Given the description of an element on the screen output the (x, y) to click on. 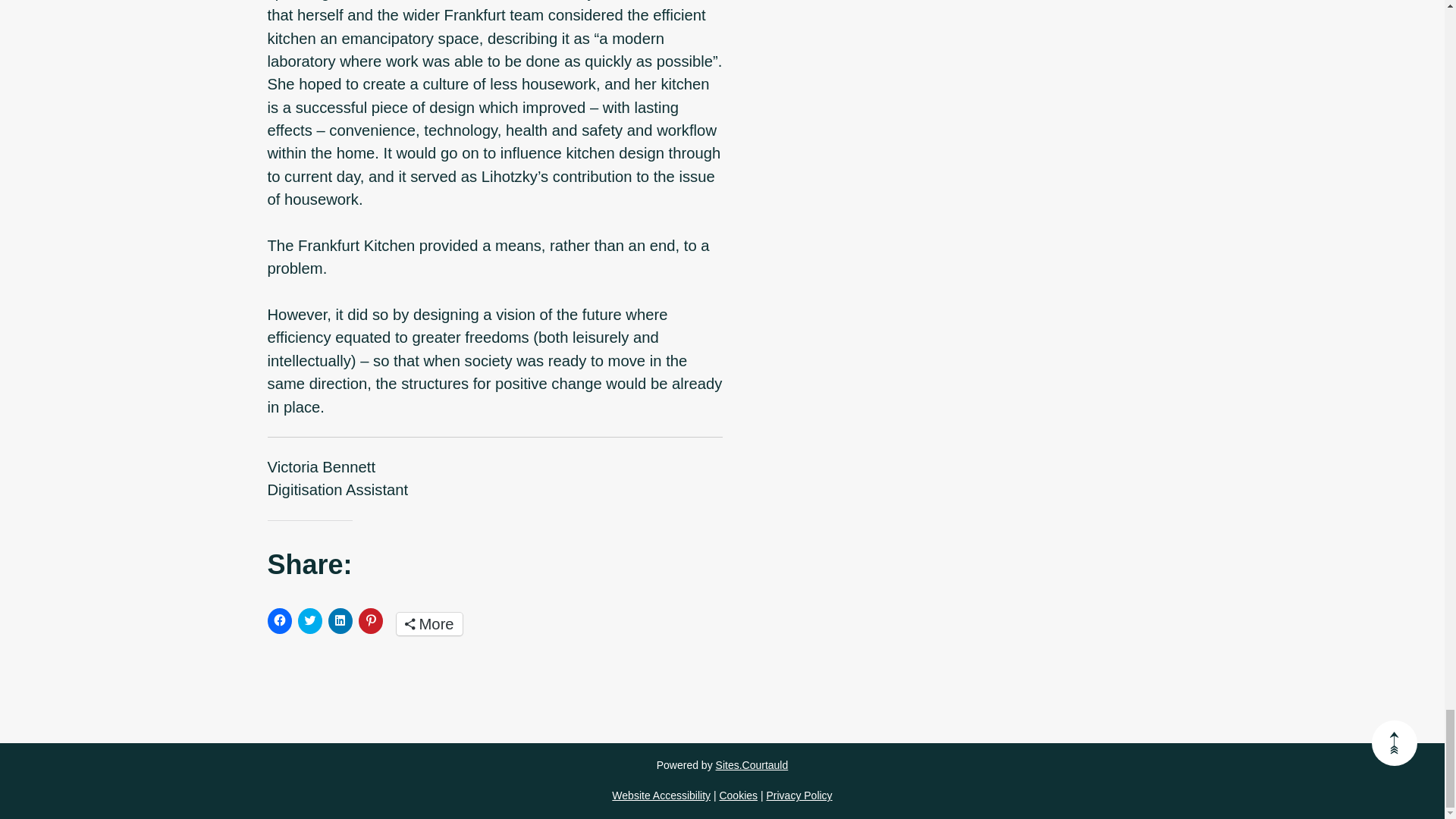
More (428, 623)
Website Accessibility (660, 795)
Click to share on Facebook (278, 620)
Sites.Courtauld (752, 765)
Click to share on LinkedIn (339, 620)
Click to share on Twitter (309, 620)
Click to share on Pinterest (369, 620)
Cookies (738, 795)
